Given the description of an element on the screen output the (x, y) to click on. 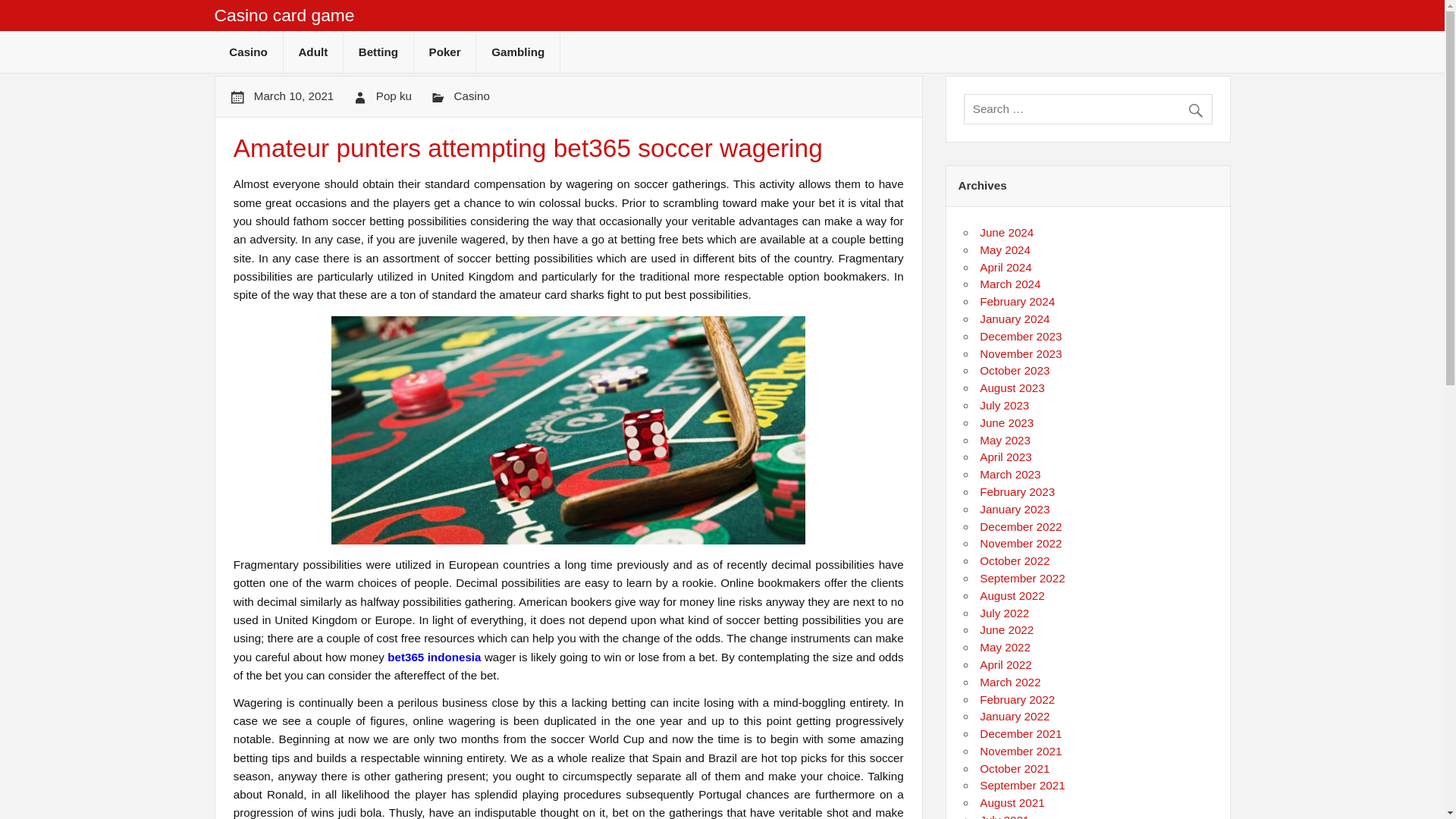
October 2022 (1014, 560)
Casino (471, 95)
February 2024 (1016, 300)
August 2022 (1011, 594)
May 2022 (1004, 646)
May 2023 (1004, 440)
March 2023 (1010, 473)
Pop ku (393, 95)
January 2024 (1014, 318)
December 2022 (1020, 526)
November 2023 (1020, 353)
July 2022 (1004, 612)
Casino (248, 51)
April 2023 (1004, 456)
March 10, 2021 (293, 95)
